Given the description of an element on the screen output the (x, y) to click on. 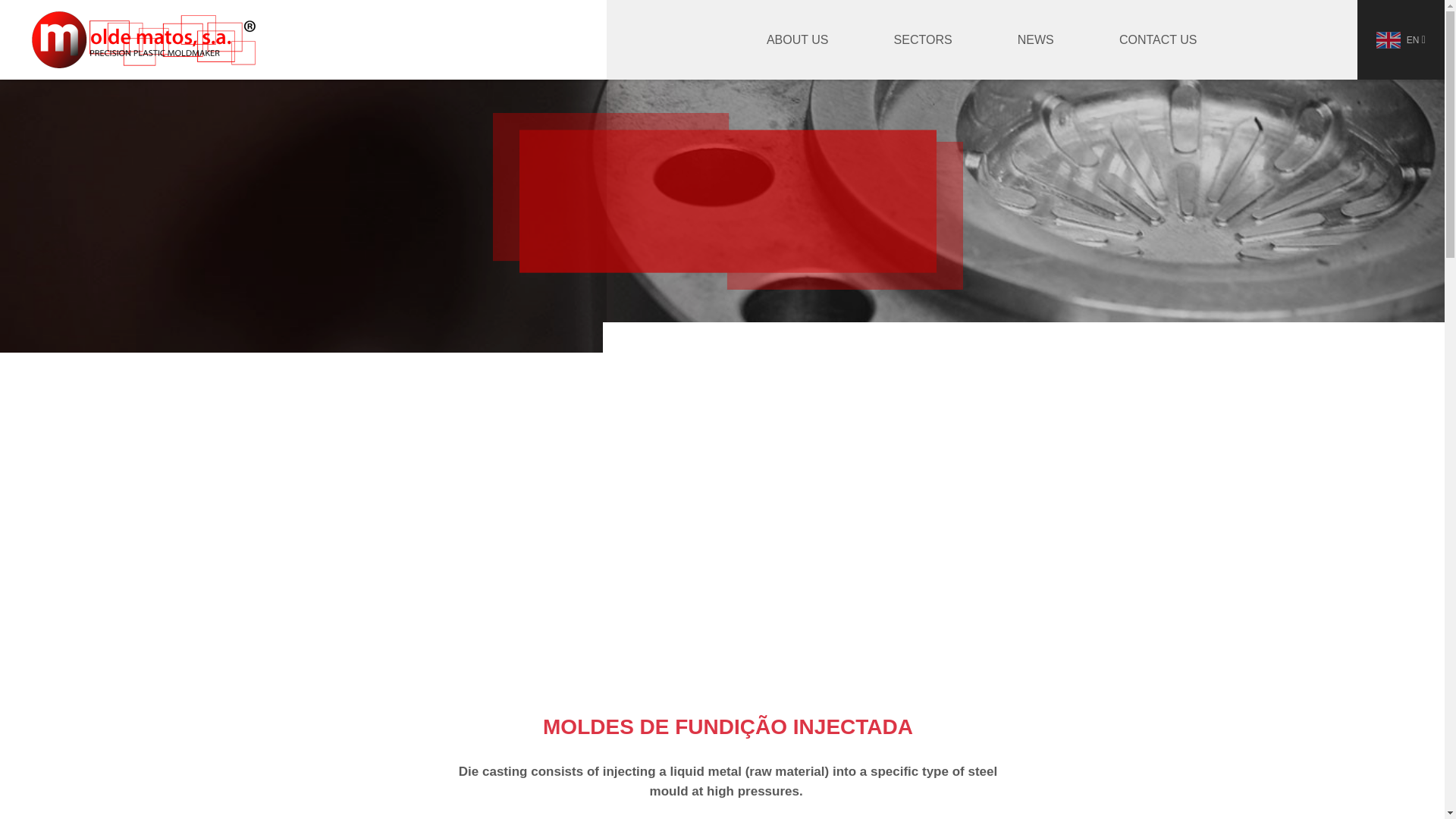
Home (144, 39)
ABOUT US (797, 39)
CONTACT US (1157, 39)
SECTORS (922, 39)
NEWS (1035, 39)
